Given the description of an element on the screen output the (x, y) to click on. 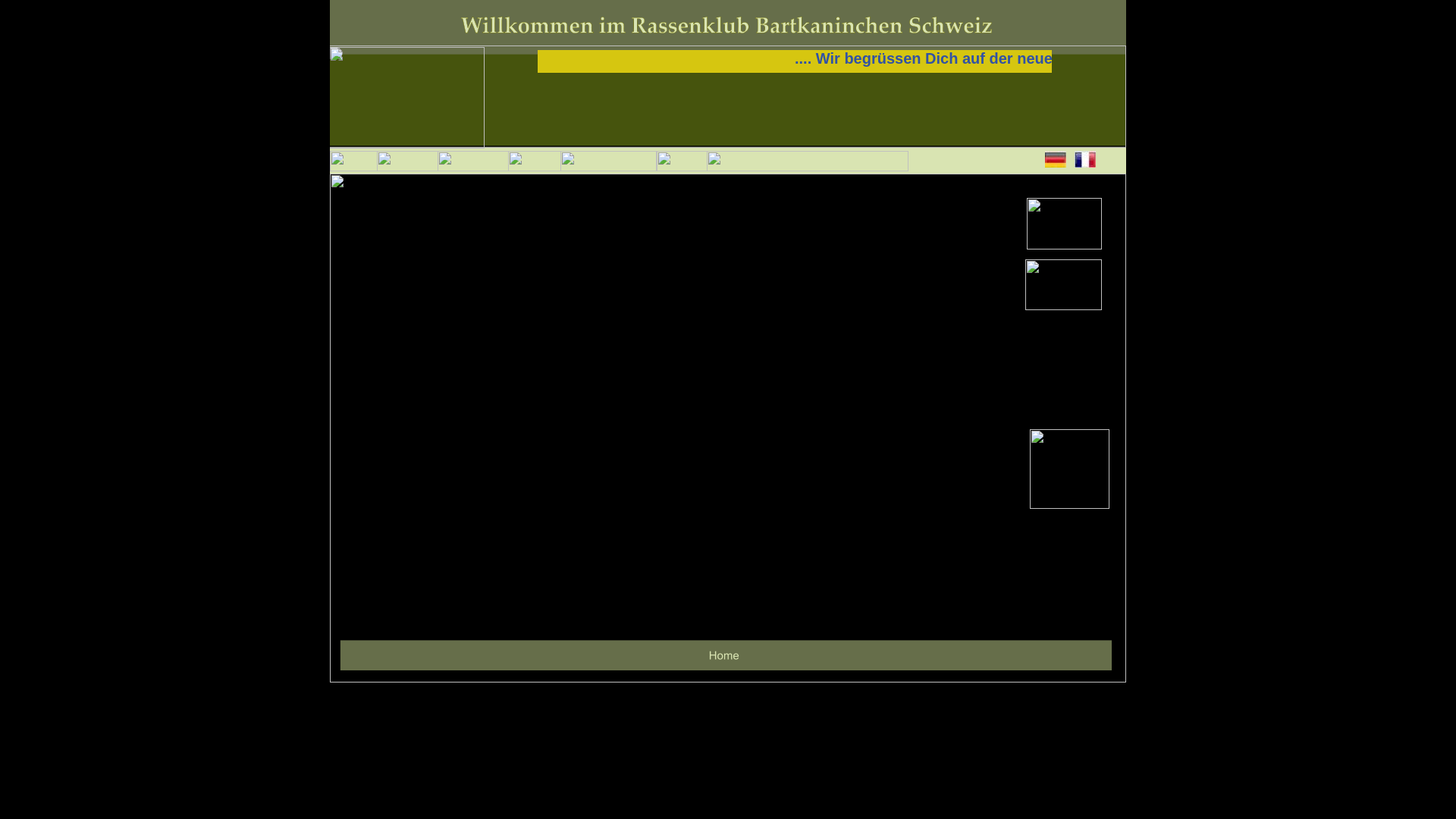
DE Element type: hover (1055, 158)
FR Element type: hover (1084, 158)
